Given the description of an element on the screen output the (x, y) to click on. 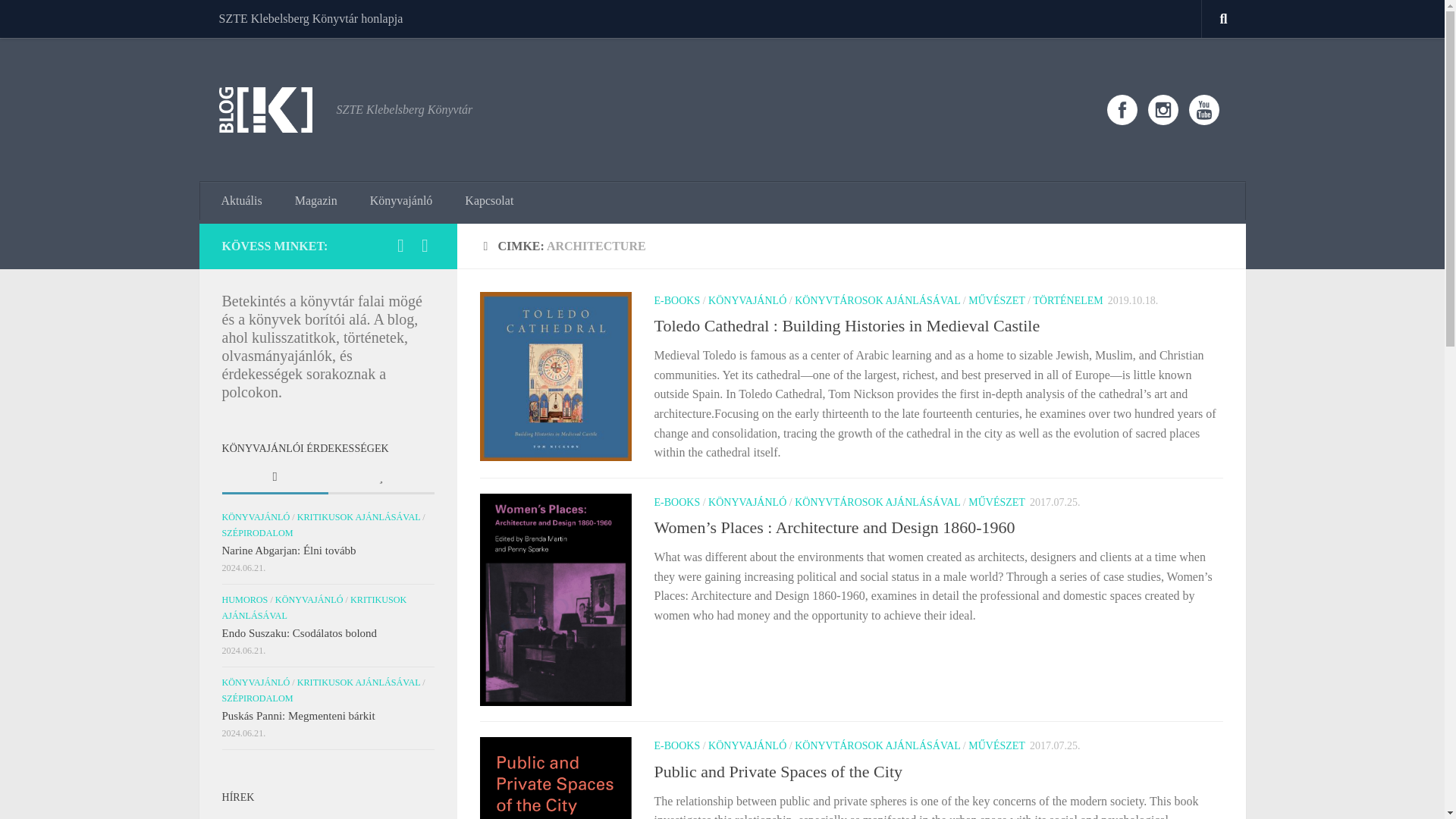
Kapcsolat (489, 200)
RSS csatorna. (423, 245)
E-BOOKS (676, 745)
Public and Private Spaces of the City (777, 770)
Magazin (315, 200)
Skip to content (59, 20)
Toledo Cathedral : Building Histories in Medieval Castile (846, 325)
E-BOOKS (676, 300)
E-BOOKS (676, 501)
